Given the description of an element on the screen output the (x, y) to click on. 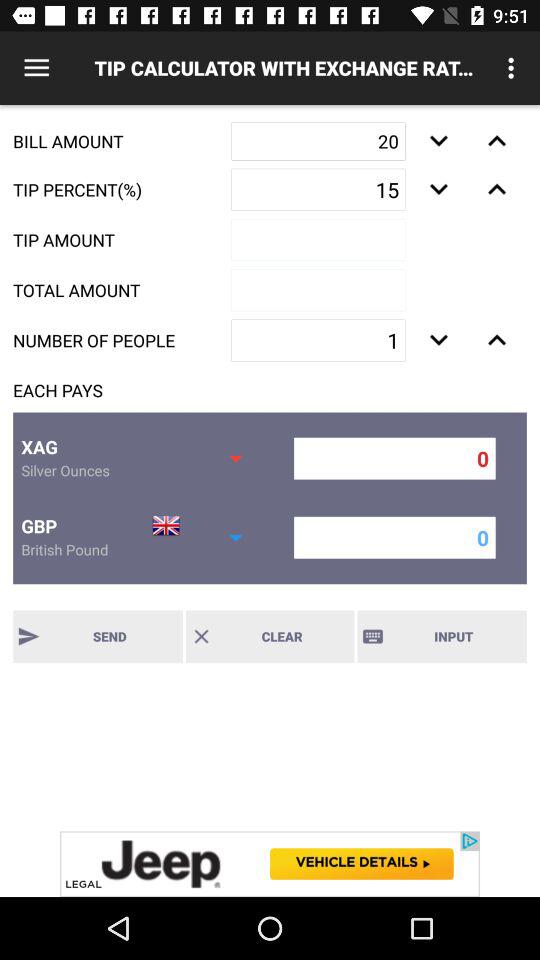
go to decrease (496, 340)
